Given the description of an element on the screen output the (x, y) to click on. 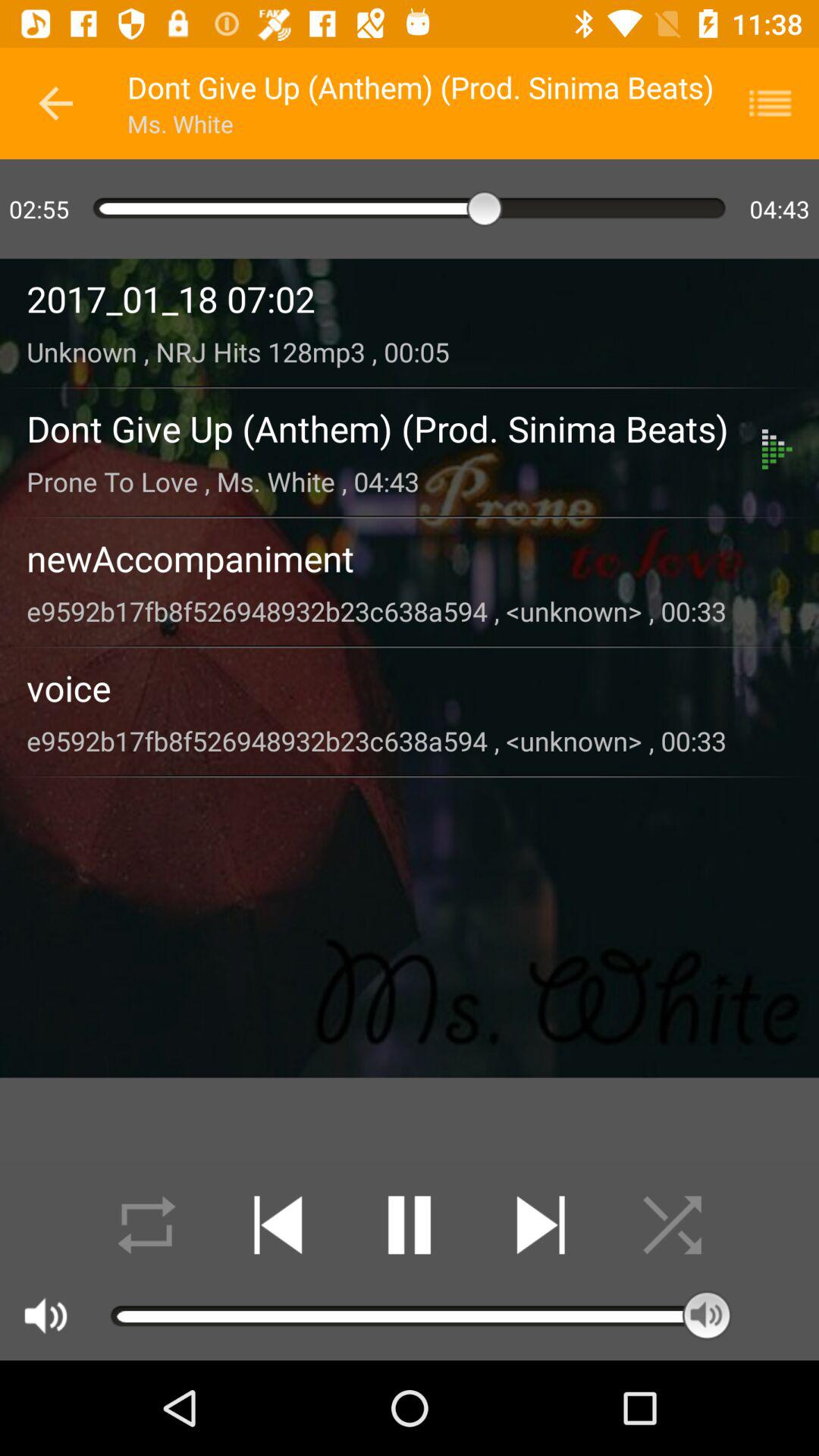
choose item above the e9592b17fb8f526948932b23c638a594 unknown 00 icon (409, 558)
